Given the description of an element on the screen output the (x, y) to click on. 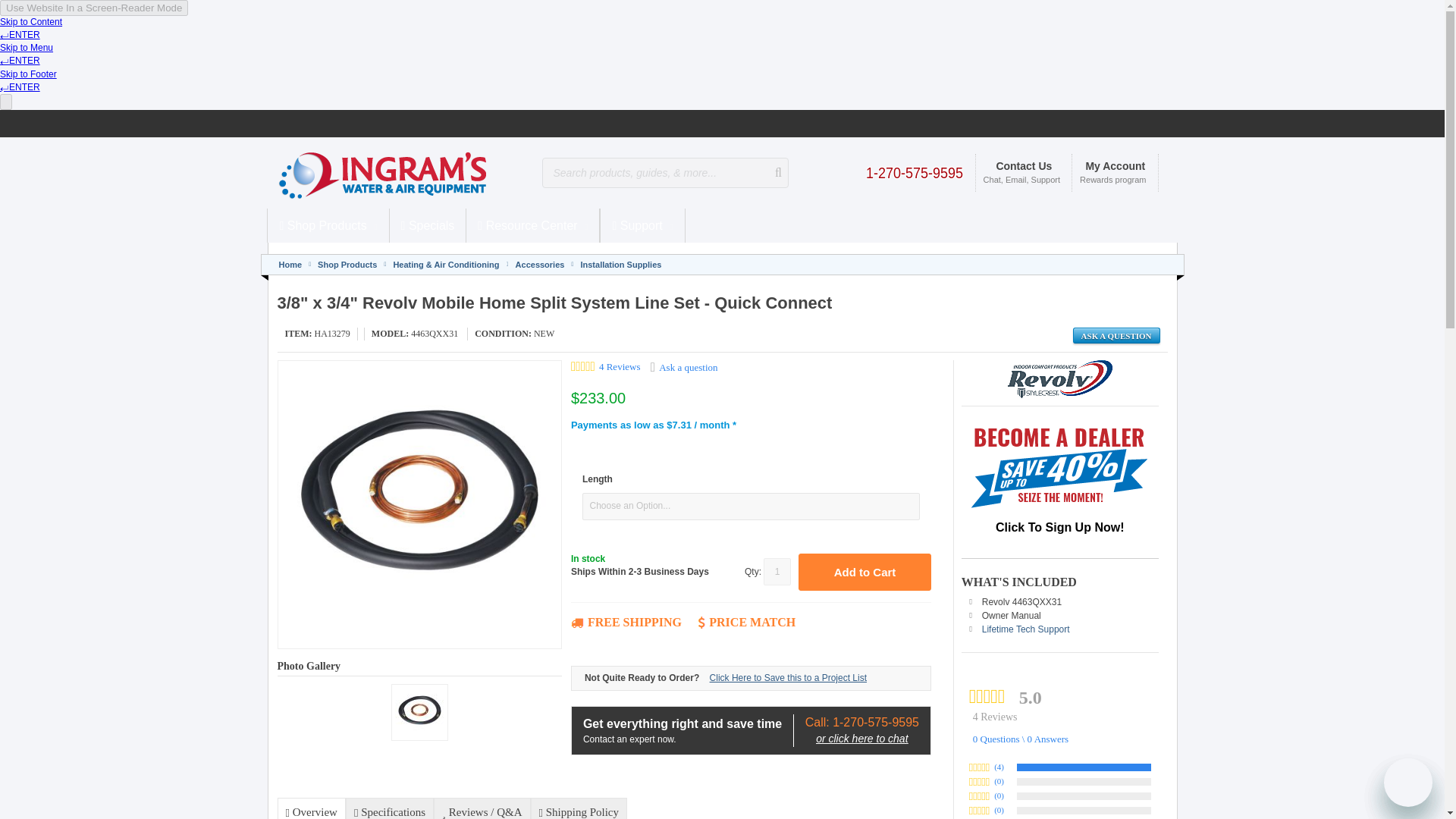
Ask a question (1116, 335)
Go to Home Page (290, 264)
Shop Products (327, 225)
1 (776, 571)
Ingrams Water and Air Equipment (389, 172)
1-270-575-9595 (914, 170)
Ingrams Water and Air Equipment (408, 172)
